Given the description of an element on the screen output the (x, y) to click on. 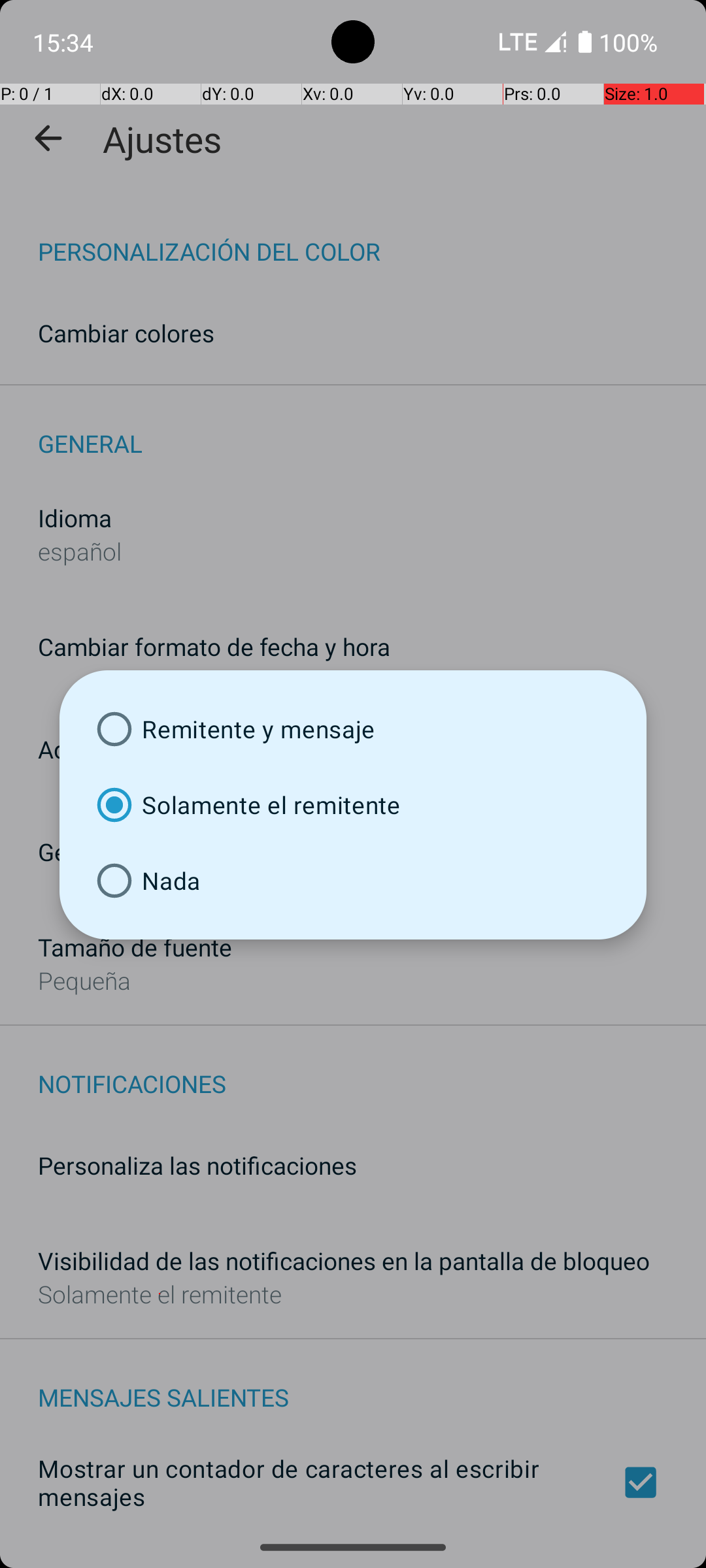
Remitente y mensaje Element type: android.widget.RadioButton (352, 729)
Solamente el remitente Element type: android.widget.RadioButton (352, 804)
Nada Element type: android.widget.RadioButton (352, 880)
